Given the description of an element on the screen output the (x, y) to click on. 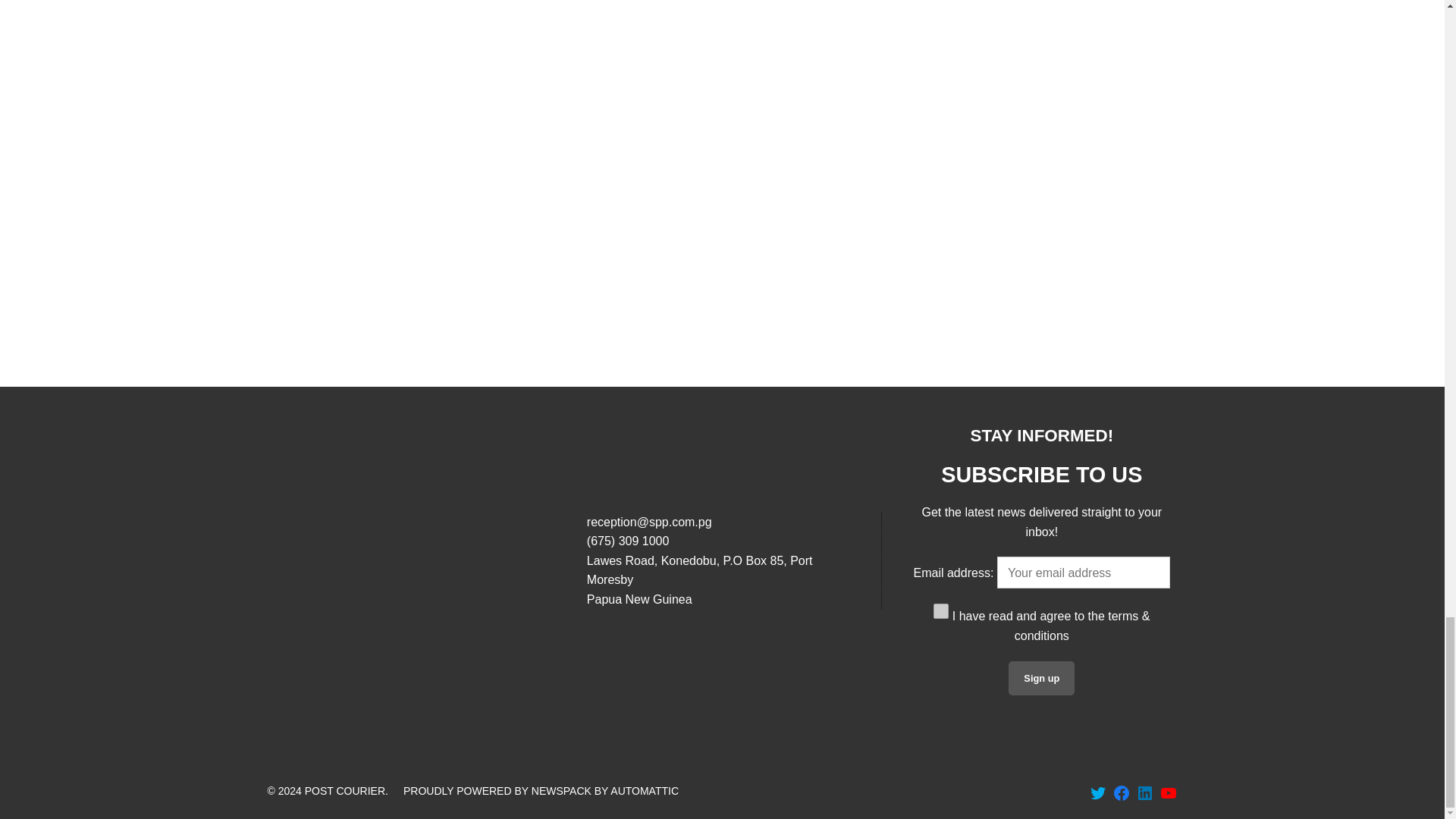
VideoPress Video Player (1040, 146)
Sign up (1041, 678)
1 (941, 611)
Open address in Google Maps (721, 580)
